Given the description of an element on the screen output the (x, y) to click on. 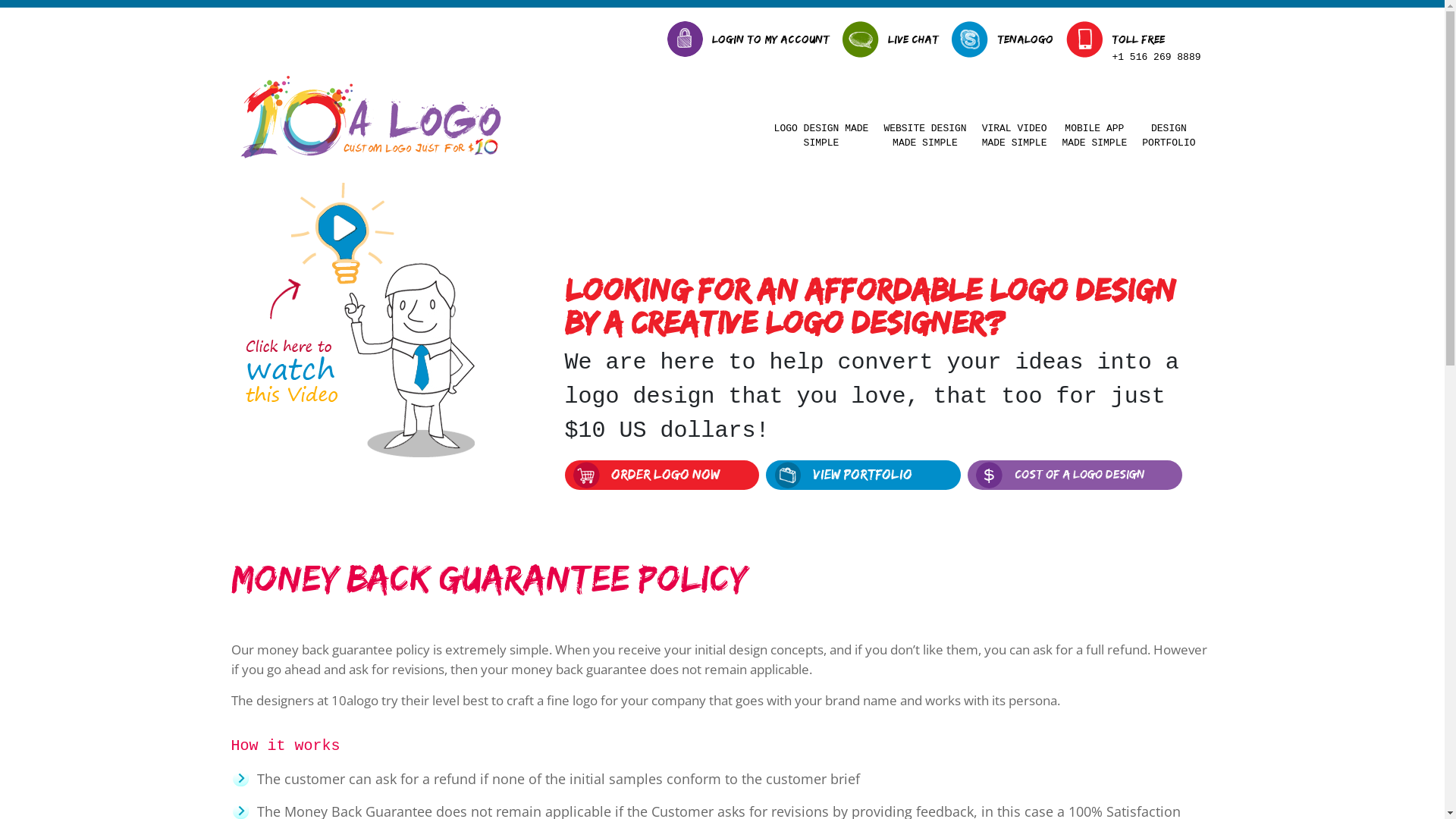
VIRAL VIDEO
MADE SIMPLE Element type: text (1015, 135)
+1 516 269 8889 Element type: text (1155, 56)
LOGO DESIGN MADE
SIMPLE Element type: text (823, 135)
WEBSITE DESIGN
MADE SIMPLE Element type: text (926, 135)
order logo now Element type: text (648, 475)
COST OF A LOGO DESIGN Element type: text (1079, 474)
MOBILE APP
MADE SIMPLE Element type: text (1095, 135)
Live Chat Element type: text (913, 34)
computer148 Element type: hover (787, 474)
view portfolio Element type: text (845, 475)
Login to My Account Element type: text (770, 34)
order logo now Element type: text (665, 474)
computer149 Element type: hover (988, 474)
computer150 Element type: hover (239, 777)
computer146 Element type: hover (381, 319)
Toll Free Element type: text (1155, 41)
computer147 Element type: hover (586, 474)
DESIGN
PORTFOLIO Element type: text (1169, 135)
TenAlogo Element type: text (1025, 34)
view portfolio Element type: text (862, 474)
COST OF A LOGO DESIGN Element type: text (1079, 475)
